Given the description of an element on the screen output the (x, y) to click on. 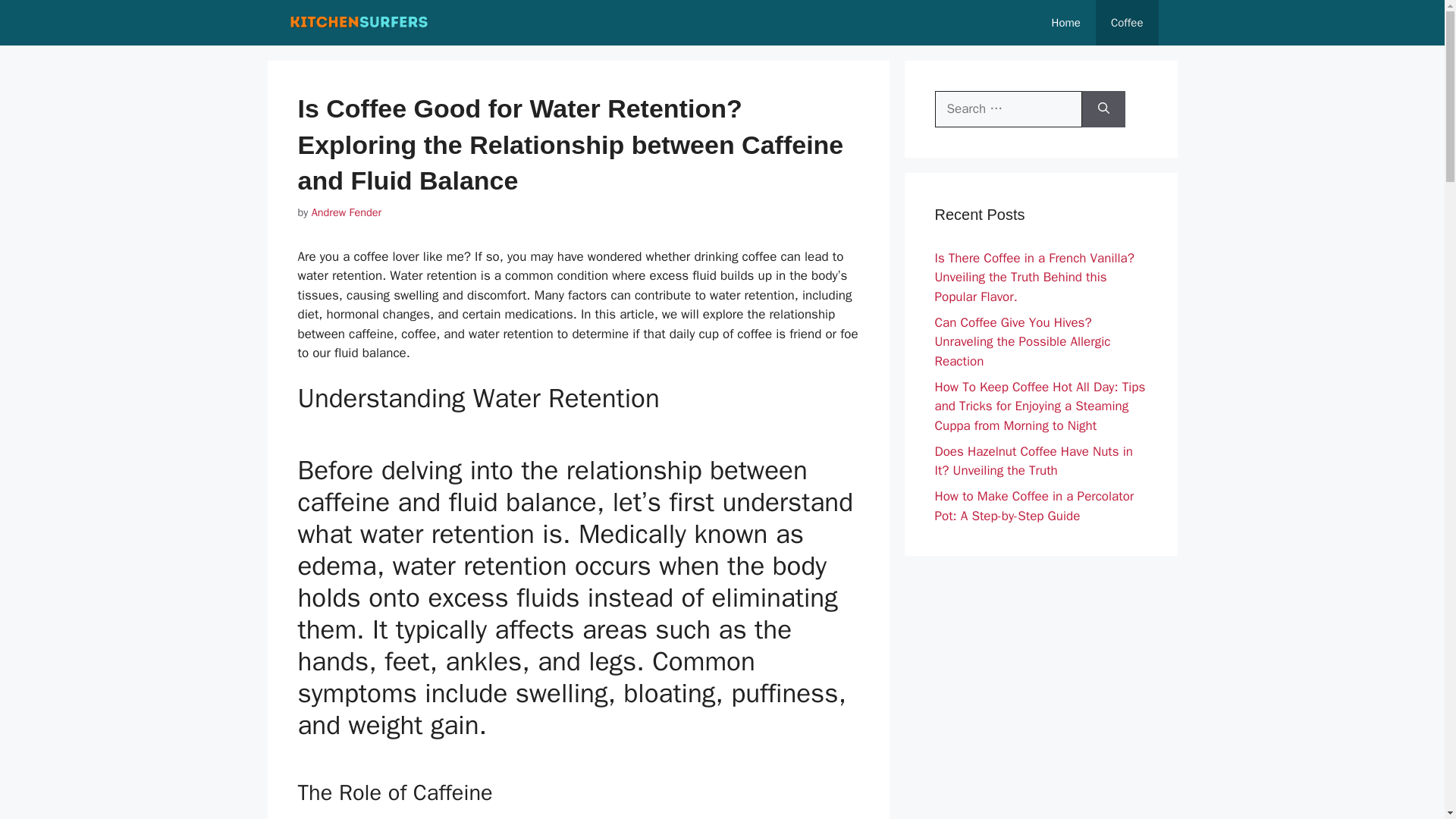
View all posts by Andrew Fender (346, 212)
Search for: (1007, 108)
KitchenSurfers (359, 22)
Coffee (1127, 22)
Home (1066, 22)
Andrew Fender (346, 212)
How to Make Coffee in a Percolator Pot: A Step-by-Step Guide (1034, 506)
